Given the description of an element on the screen output the (x, y) to click on. 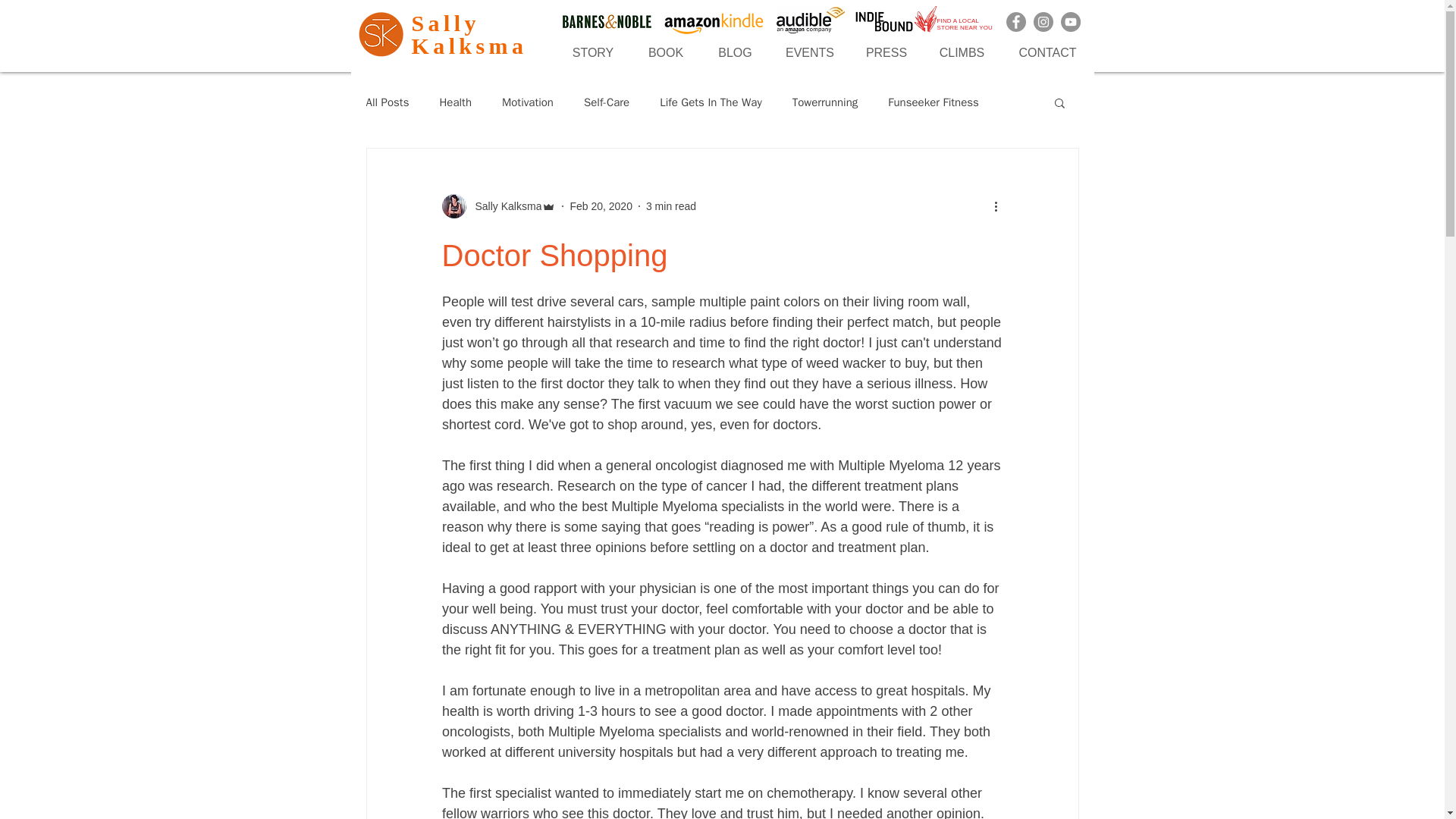
Health (455, 102)
Self-Care (605, 102)
Sally Kalksma (503, 206)
BOOK (665, 52)
Life Gets In The Way (710, 102)
CONTACT (1047, 52)
Feb 20, 2020 (600, 205)
STORY (592, 52)
EVENTS (809, 52)
Sally Kalksma (468, 34)
